Given the description of an element on the screen output the (x, y) to click on. 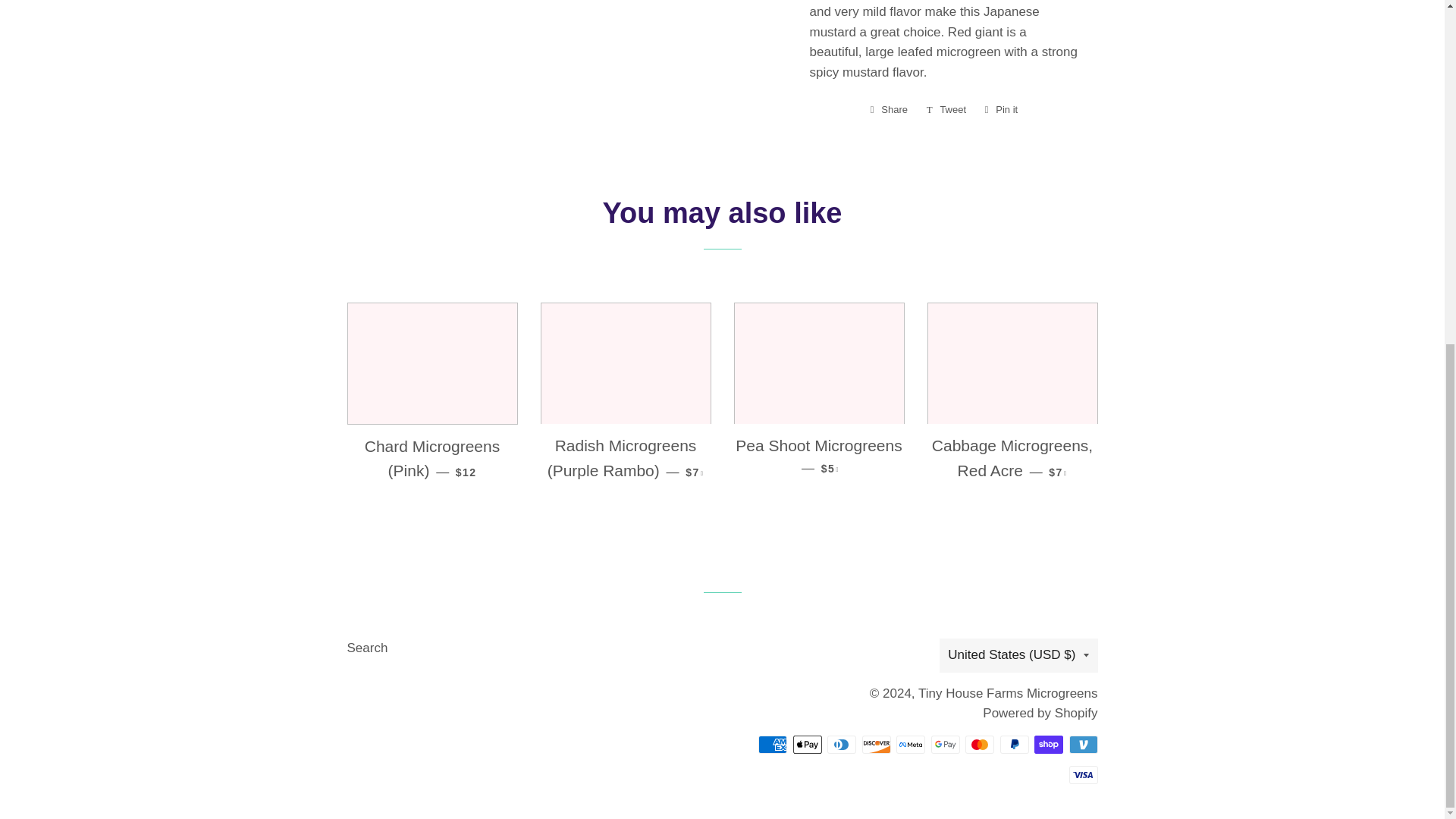
Apple Pay (807, 744)
PayPal (1012, 744)
Meta Pay (910, 744)
American Express (772, 744)
Discover (875, 744)
Visa (946, 109)
Share on Facebook (1082, 774)
Pin on Pinterest (889, 109)
Mastercard (1000, 109)
Diners Club (979, 744)
Shop Pay (841, 744)
Venmo (1047, 744)
Search (1000, 109)
